Given the description of an element on the screen output the (x, y) to click on. 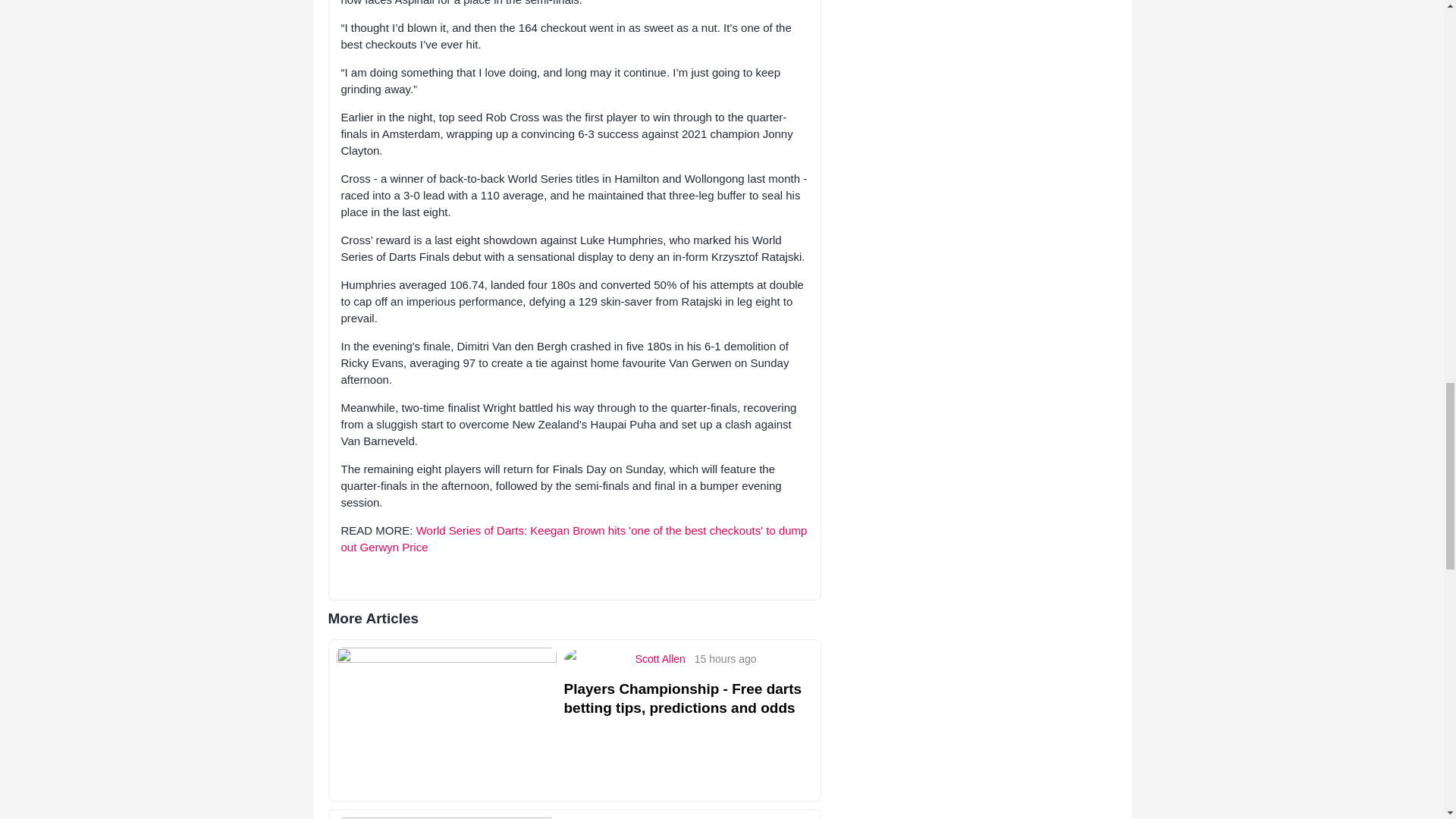
Scott Allen (659, 658)
